Given the description of an element on the screen output the (x, y) to click on. 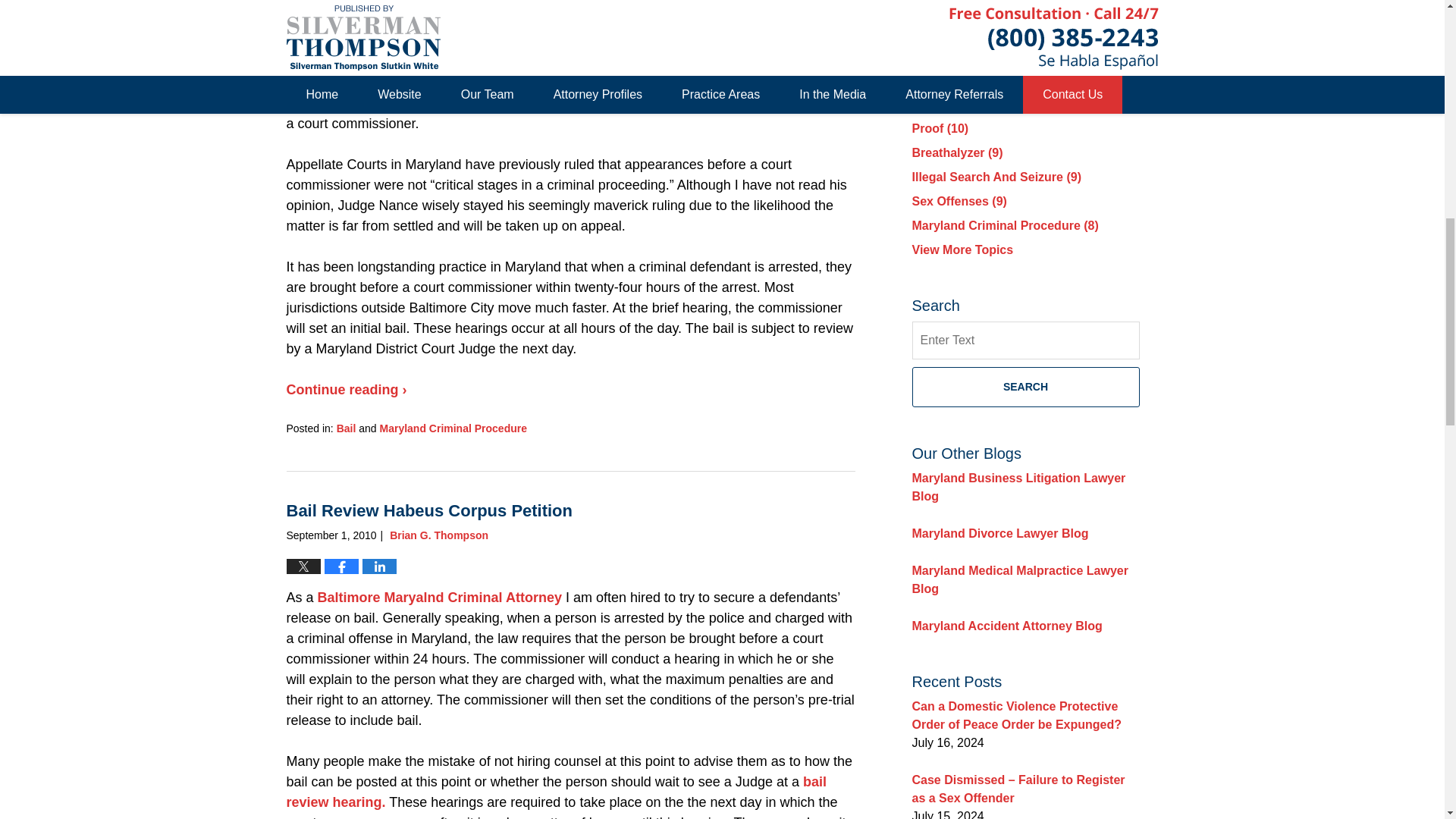
View all posts in Maryland Criminal Procedure (452, 428)
Steven D. Silverman (426, 20)
criminal cases (335, 102)
Permalink to Bail Review Habeus Corpus Petition (429, 510)
View all posts in Bail (346, 428)
